Given the description of an element on the screen output the (x, y) to click on. 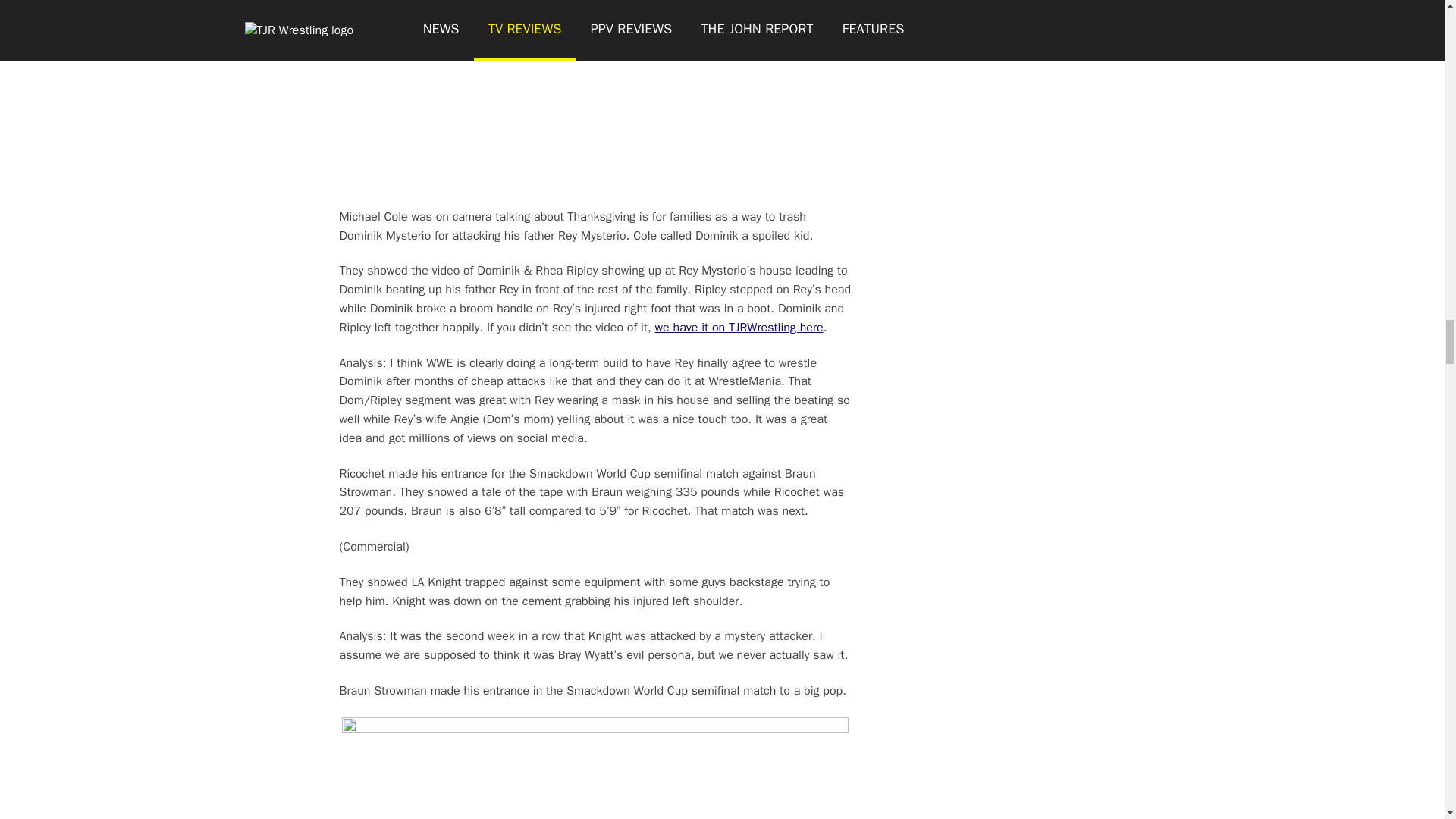
we have it on TJRWrestling here (739, 327)
